Given the description of an element on the screen output the (x, y) to click on. 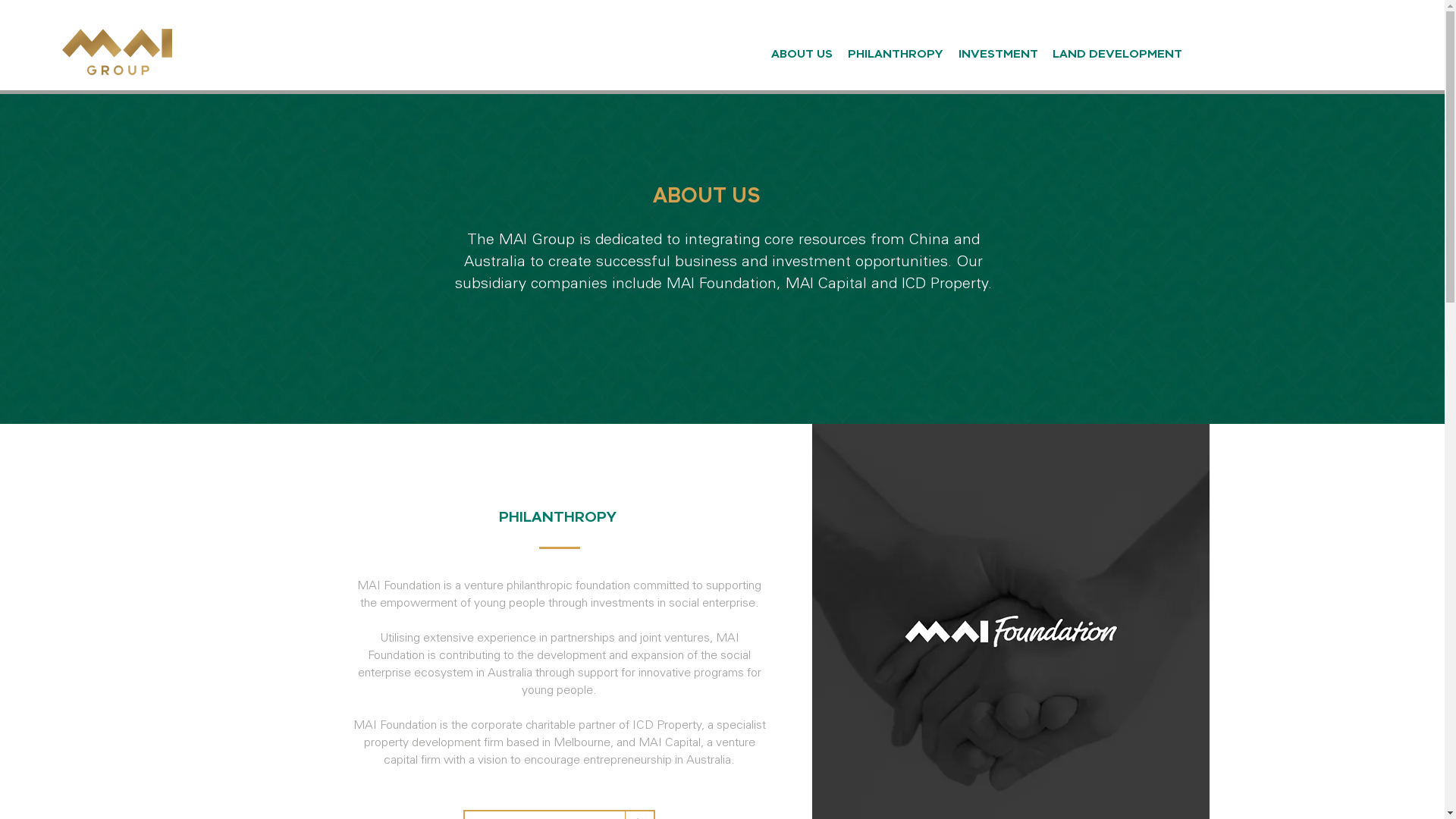
ABOUT US Element type: text (800, 46)
MAI Foundation Element type: text (720, 284)
PHILANTHROPY Element type: text (895, 46)
ICD Property Element type: text (943, 284)
LAND DEVELOPMENT Element type: text (1116, 46)
MAI Capital Element type: text (825, 284)
INVESTMENT Element type: text (997, 46)
